Given the description of an element on the screen output the (x, y) to click on. 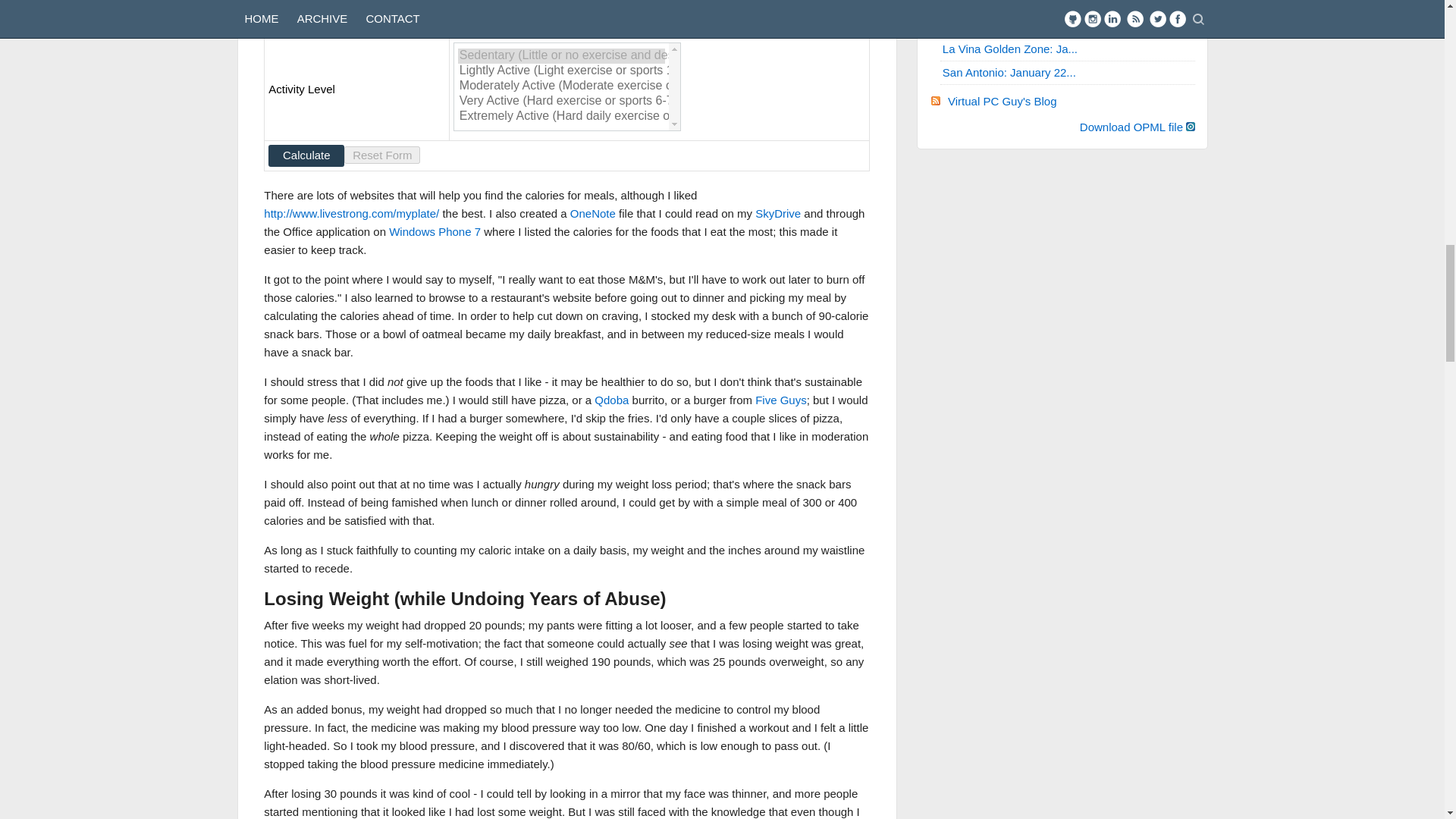
Five Guys (780, 399)
OneNote (592, 213)
Reset Form (381, 154)
Qdoba (611, 399)
Calculate (305, 155)
70 (483, 16)
Windows Phone 7 (434, 231)
SkyDrive (777, 213)
